Given the description of an element on the screen output the (x, y) to click on. 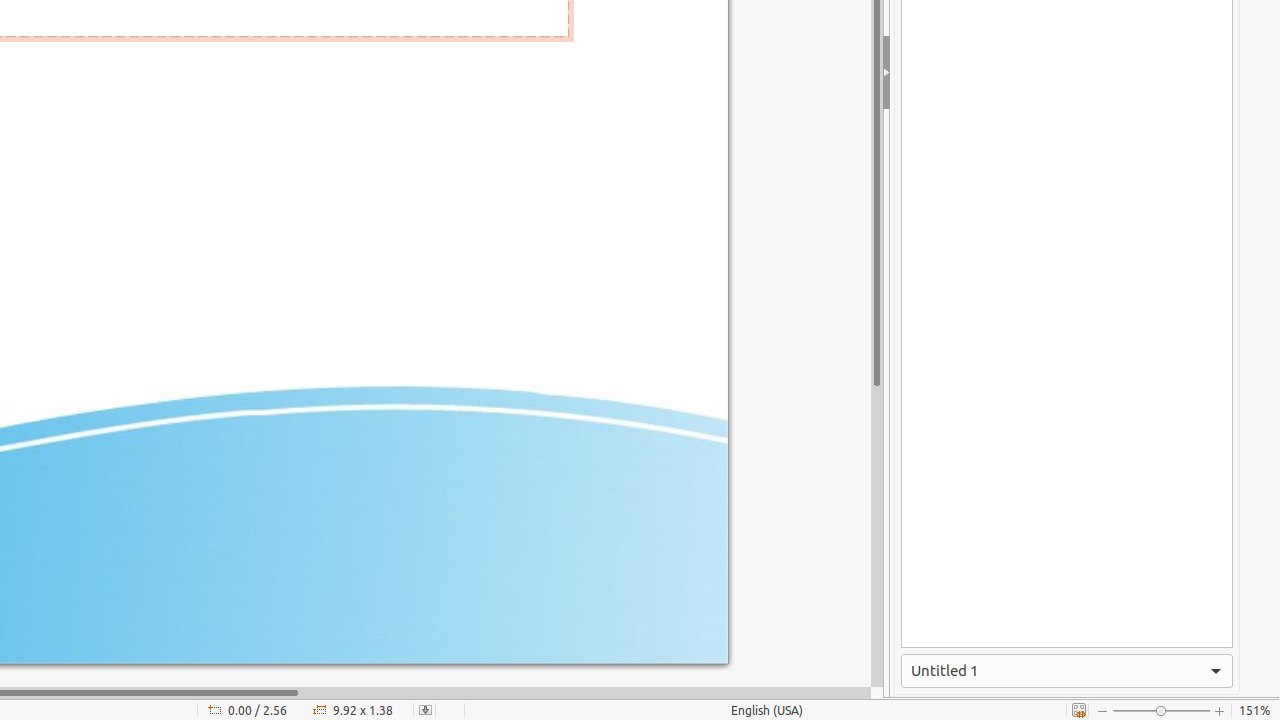
Active Window Element type: combo-box (1067, 671)
